Given the description of an element on the screen output the (x, y) to click on. 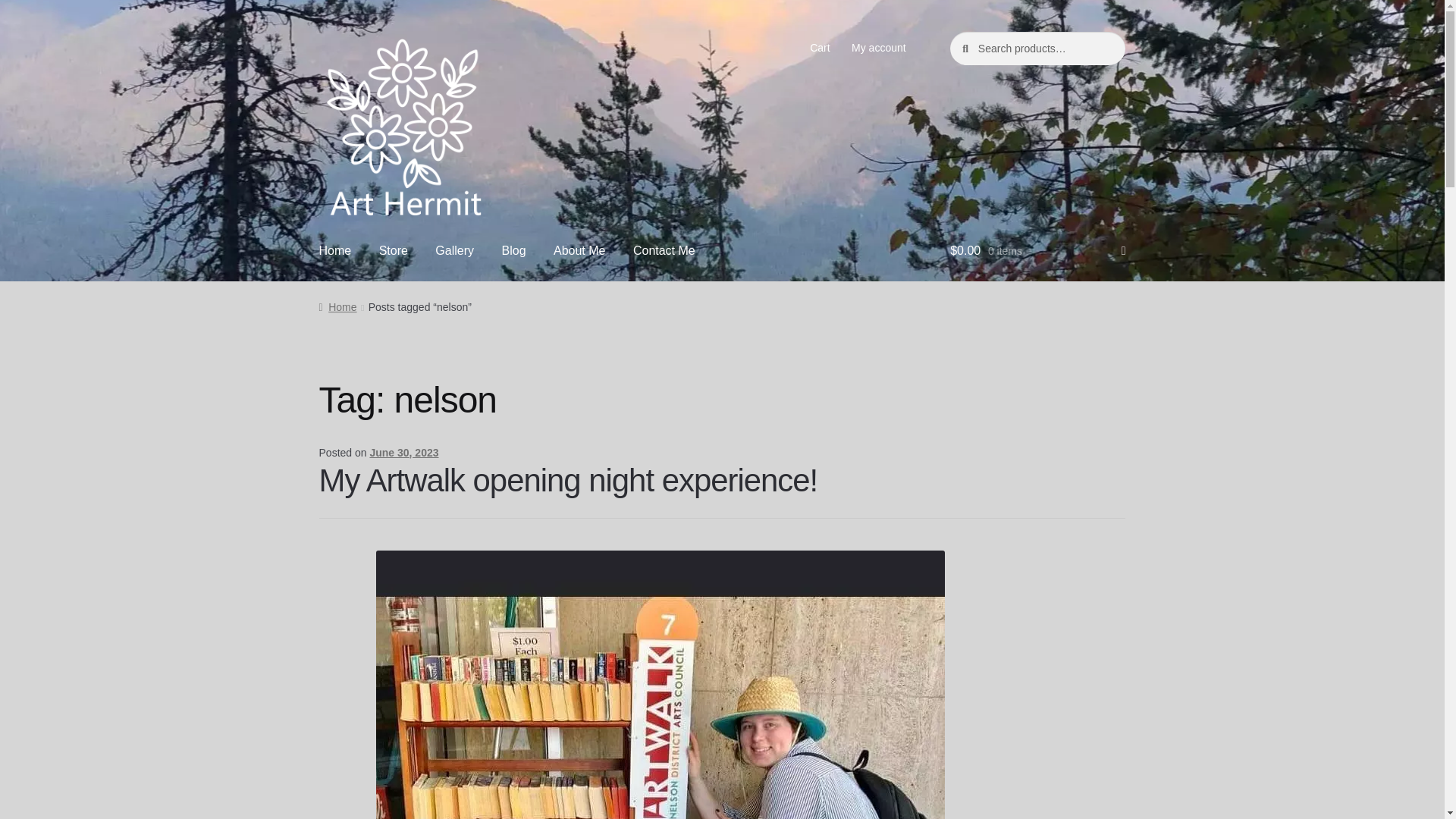
Cart (820, 47)
June 30, 2023 (403, 452)
Blog (513, 251)
About Me (579, 251)
My Artwalk opening night experience! (568, 479)
Gallery (454, 251)
Store (393, 251)
Contact Me (664, 251)
View your shopping cart (1037, 251)
Home (337, 306)
Home (335, 251)
My account (879, 47)
